Given the description of an element on the screen output the (x, y) to click on. 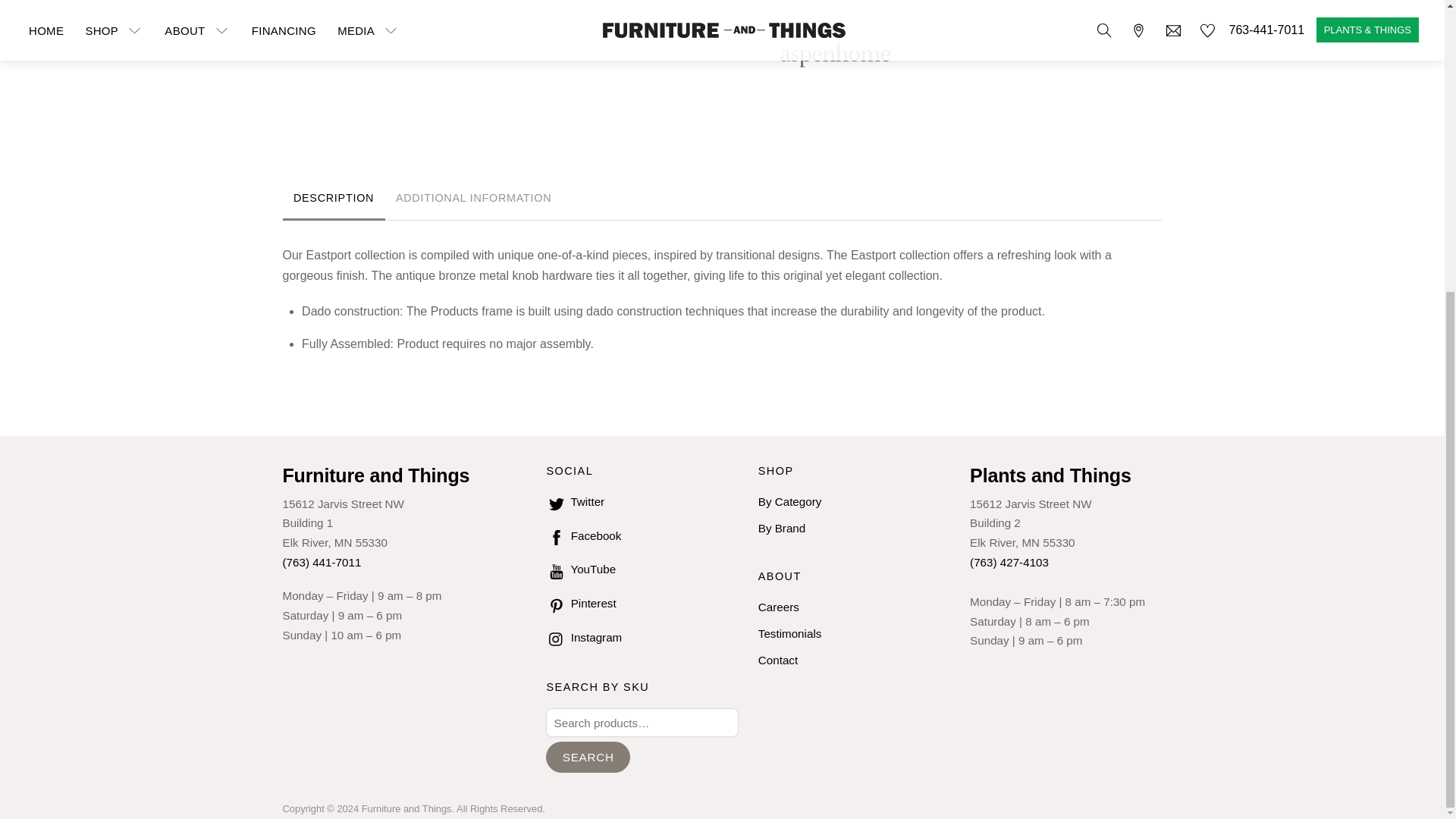
Furniture and Things (375, 475)
Plants and Things (1050, 475)
